Given the description of an element on the screen output the (x, y) to click on. 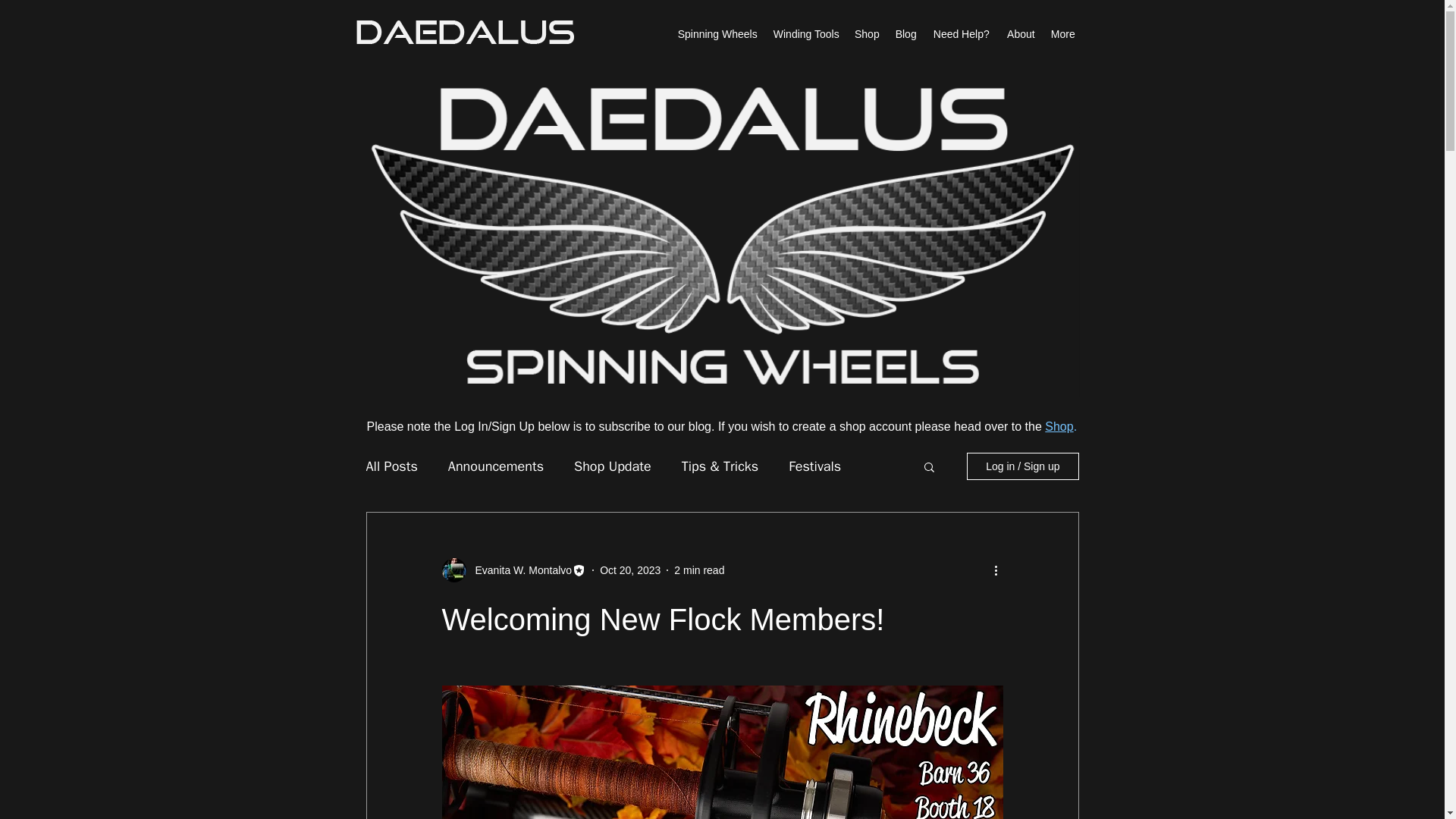
Shop (1059, 426)
Evanita W. Montalvo (513, 569)
Announcements (495, 466)
DaedalusTextLogo.png (464, 32)
All Posts (390, 466)
Festivals (815, 466)
Oct 20, 2023 (630, 570)
Shop Update (611, 466)
Blog (905, 33)
Evanita W. Montalvo (518, 570)
